Given the description of an element on the screen output the (x, y) to click on. 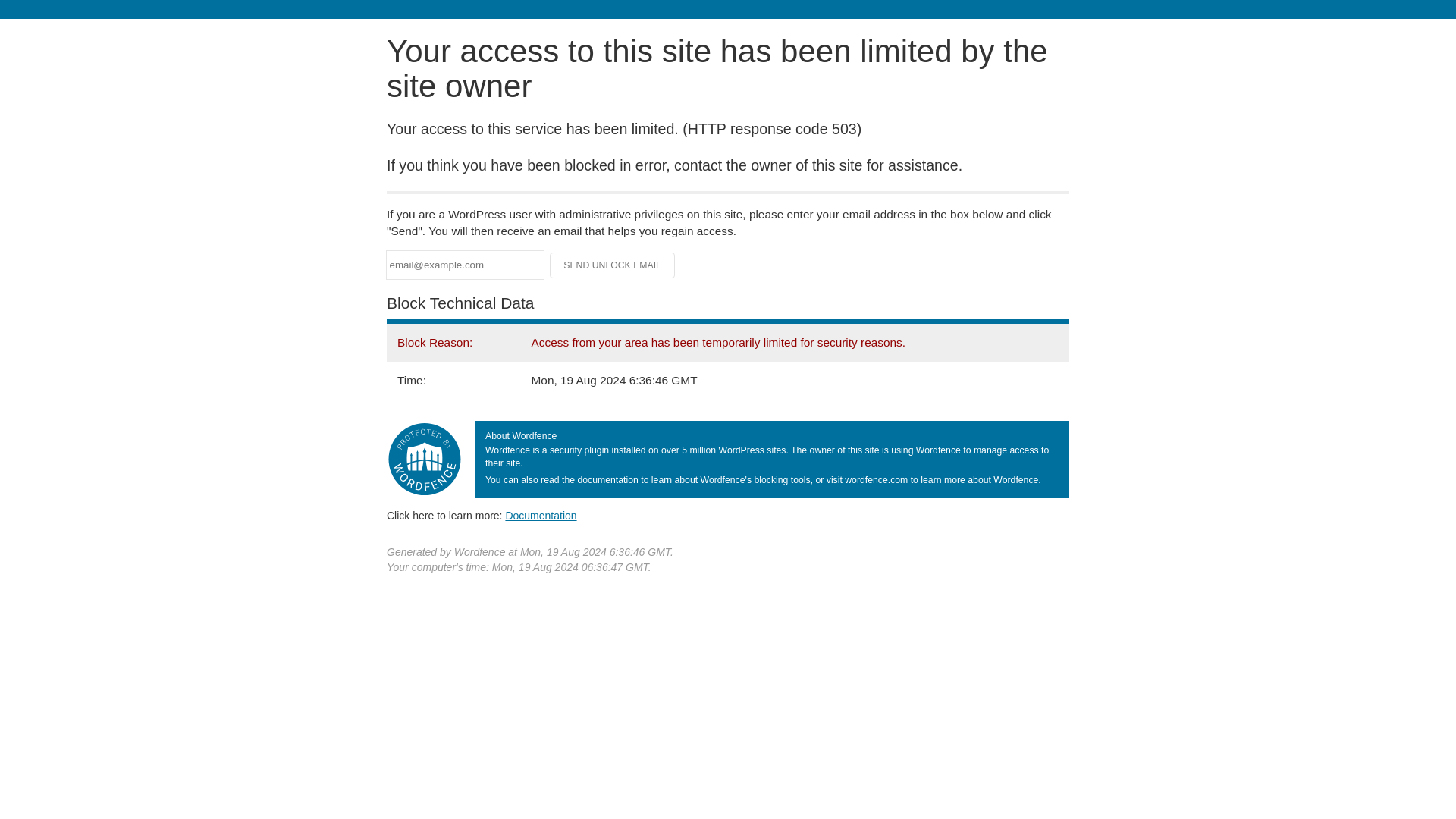
Documentation (540, 515)
Send Unlock Email (612, 265)
Send Unlock Email (612, 265)
